Given the description of an element on the screen output the (x, y) to click on. 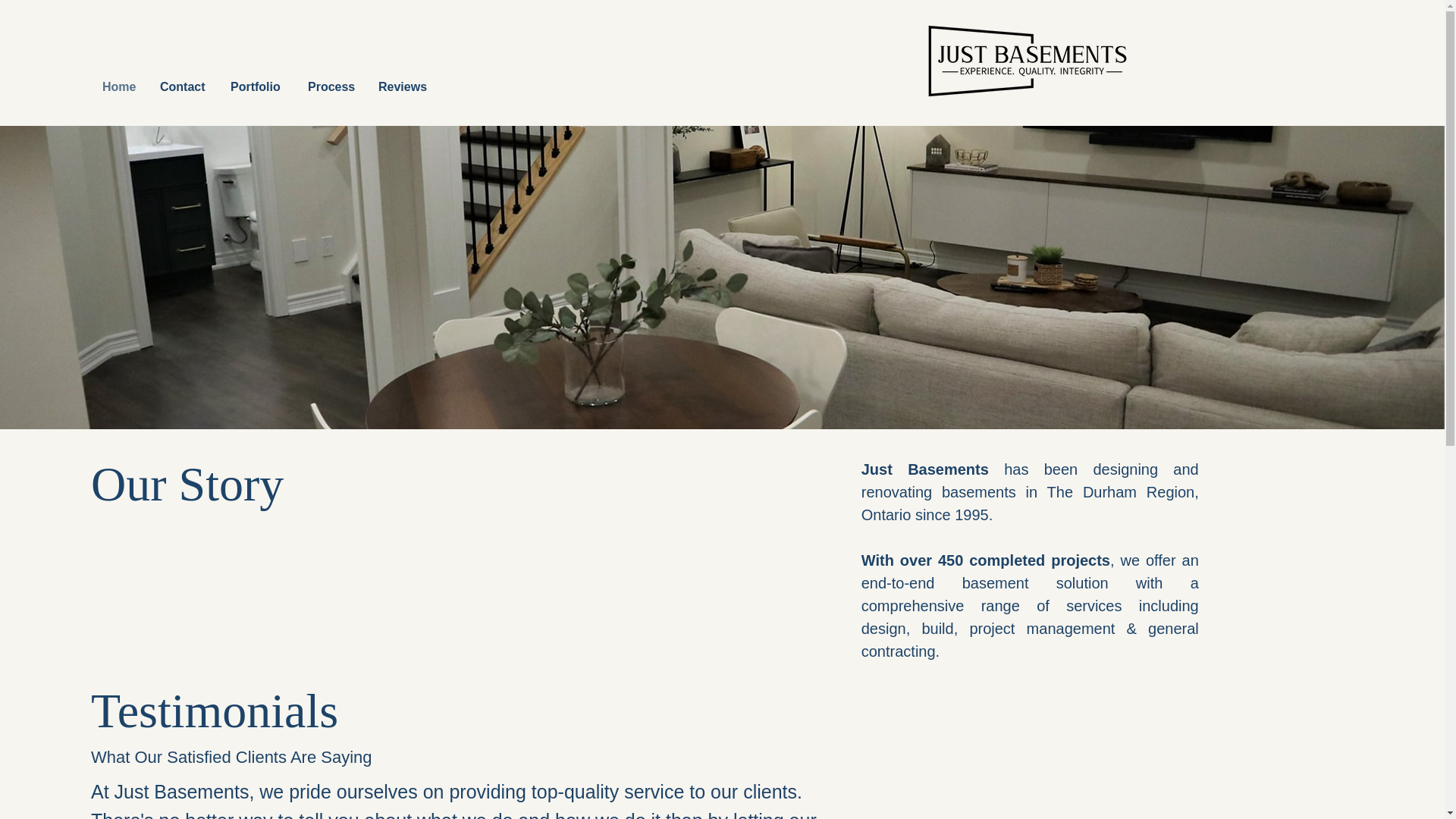
Reviews (402, 87)
Home (119, 87)
Contact (183, 87)
Process (331, 87)
Portfolio (258, 87)
Marble Surface (1026, 60)
